Given the description of an element on the screen output the (x, y) to click on. 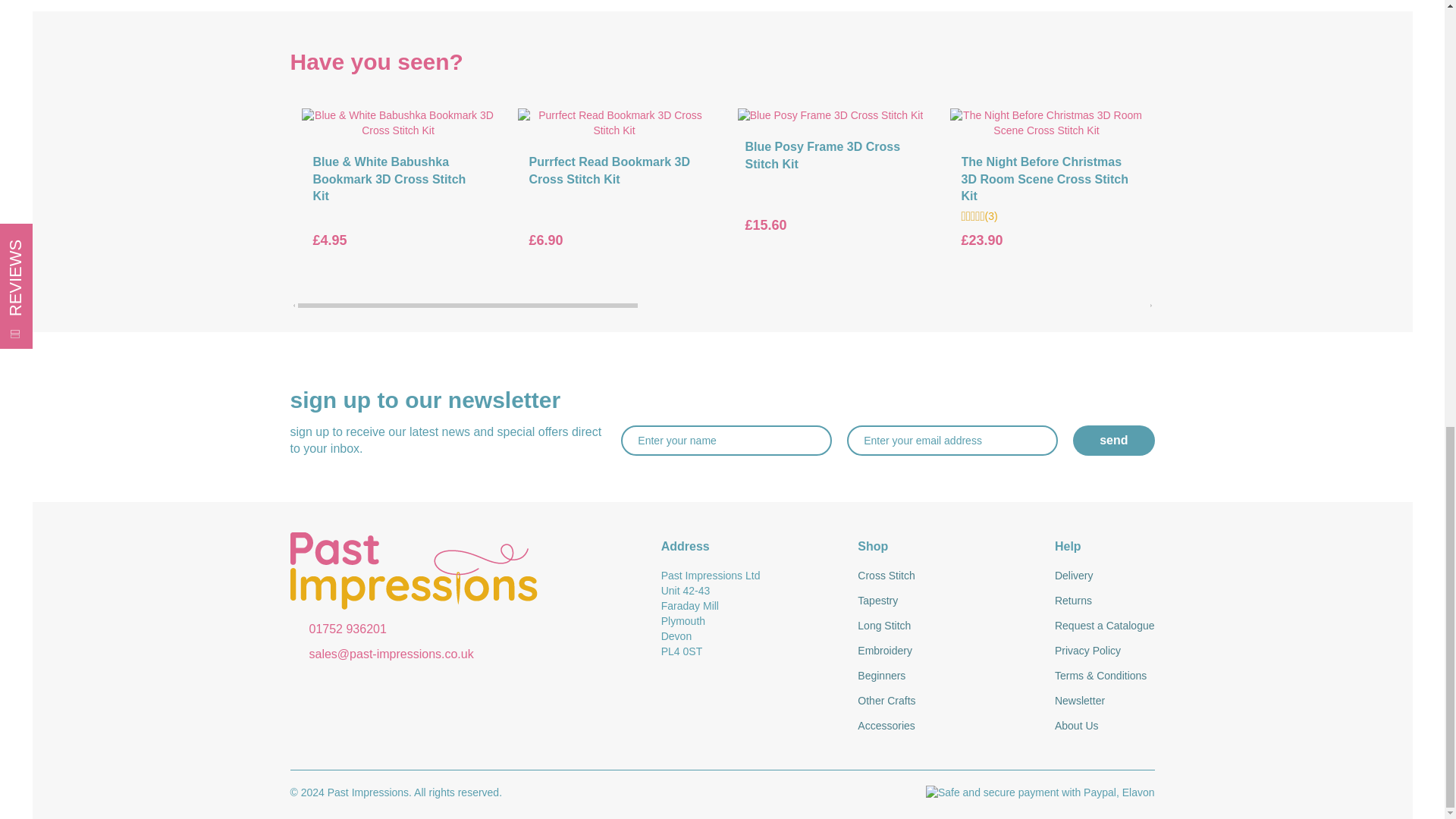
Privacy Policy (1104, 651)
Delivery (1104, 575)
Returns (1104, 601)
Embroidery (944, 651)
Tapestry (944, 601)
Other Crafts (944, 701)
Newsletter (1104, 701)
Beginners (944, 676)
Accessories (944, 726)
Long Stitch (944, 626)
